Given the description of an element on the screen output the (x, y) to click on. 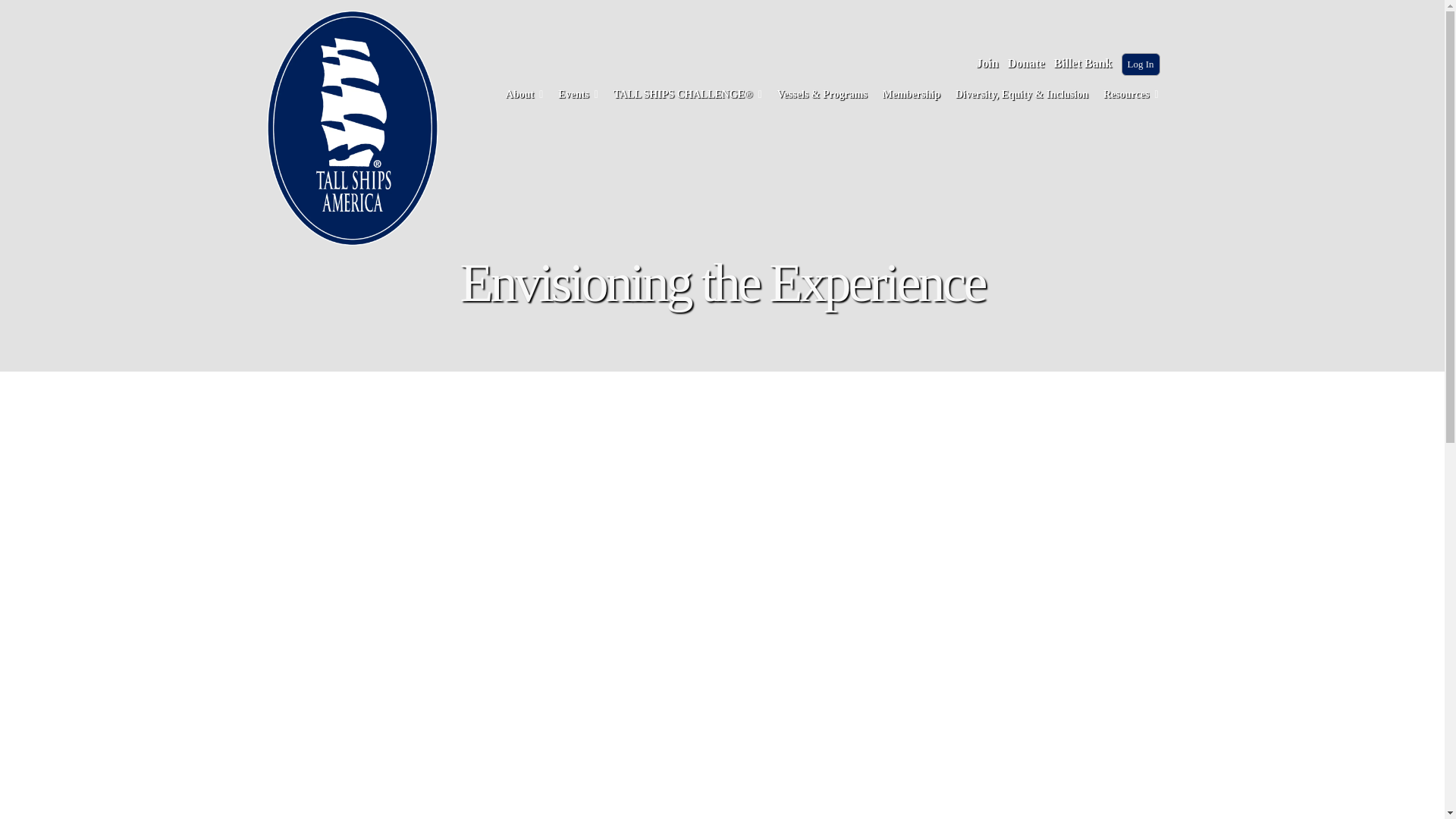
Join (986, 64)
About (524, 95)
Billet Bank (1083, 64)
Donate (1026, 64)
Membership (911, 95)
Log In (1139, 64)
Events (578, 95)
Resources (1130, 95)
